Given the description of an element on the screen output the (x, y) to click on. 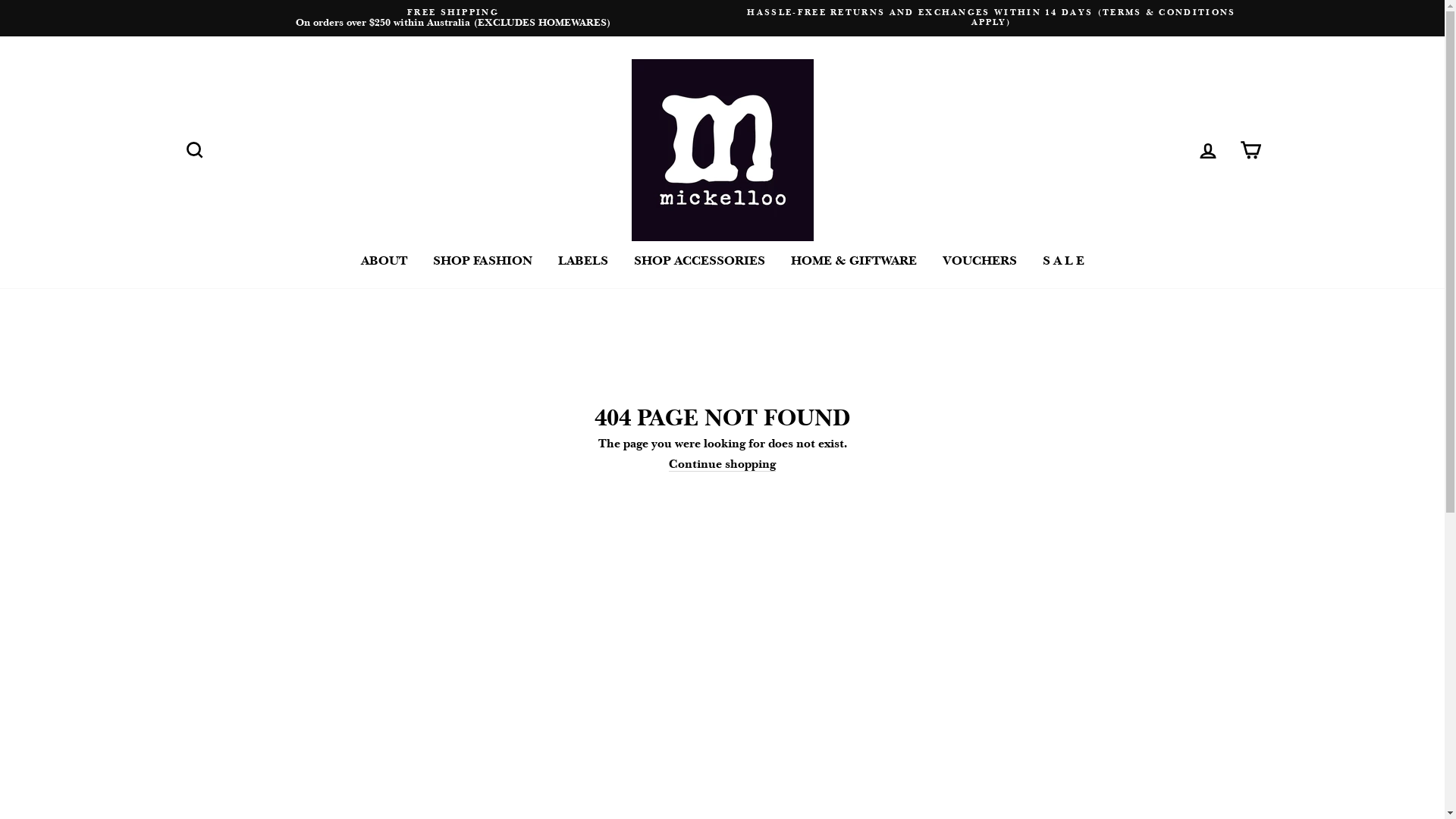
Continue shopping Element type: text (721, 464)
LOG IN Element type: text (1206, 149)
S A L E Element type: text (1063, 260)
HOME & GIFTWARE Element type: text (853, 260)
SHOP FASHION Element type: text (482, 260)
CART Element type: text (1249, 149)
SHOP ACCESSORIES Element type: text (698, 260)
SEARCH Element type: text (193, 149)
VOUCHERS Element type: text (979, 260)
ABOUT Element type: text (382, 260)
Skip to content Element type: text (0, 0)
LABELS Element type: text (582, 260)
